Given the description of an element on the screen output the (x, y) to click on. 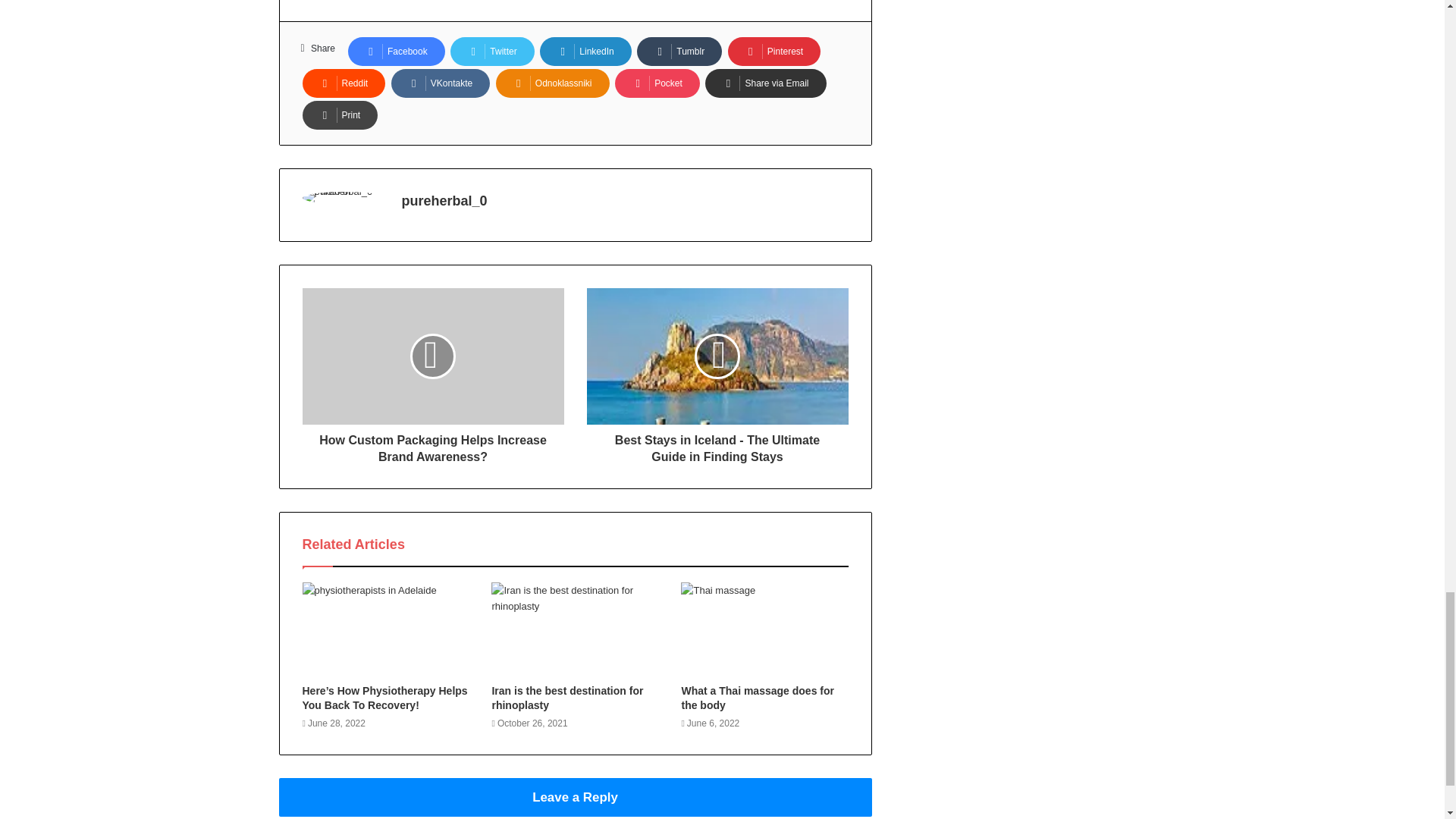
Reddit (343, 82)
Tumblr (679, 51)
LinkedIn (585, 51)
Facebook (396, 51)
Twitter (491, 51)
Pinterest (774, 51)
